Given the description of an element on the screen output the (x, y) to click on. 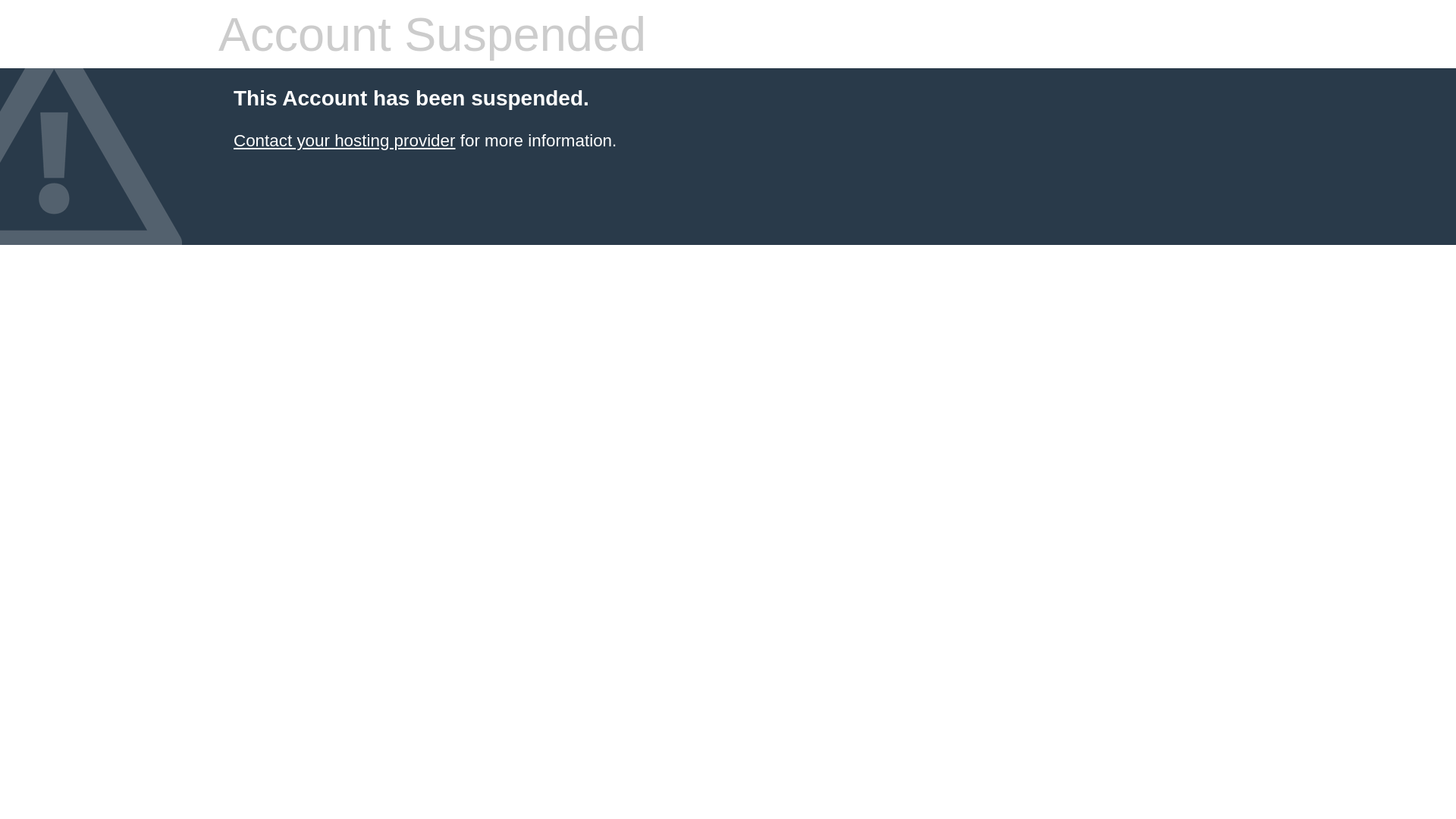
Contact your hosting provider Element type: text (344, 140)
